Given the description of an element on the screen output the (x, y) to click on. 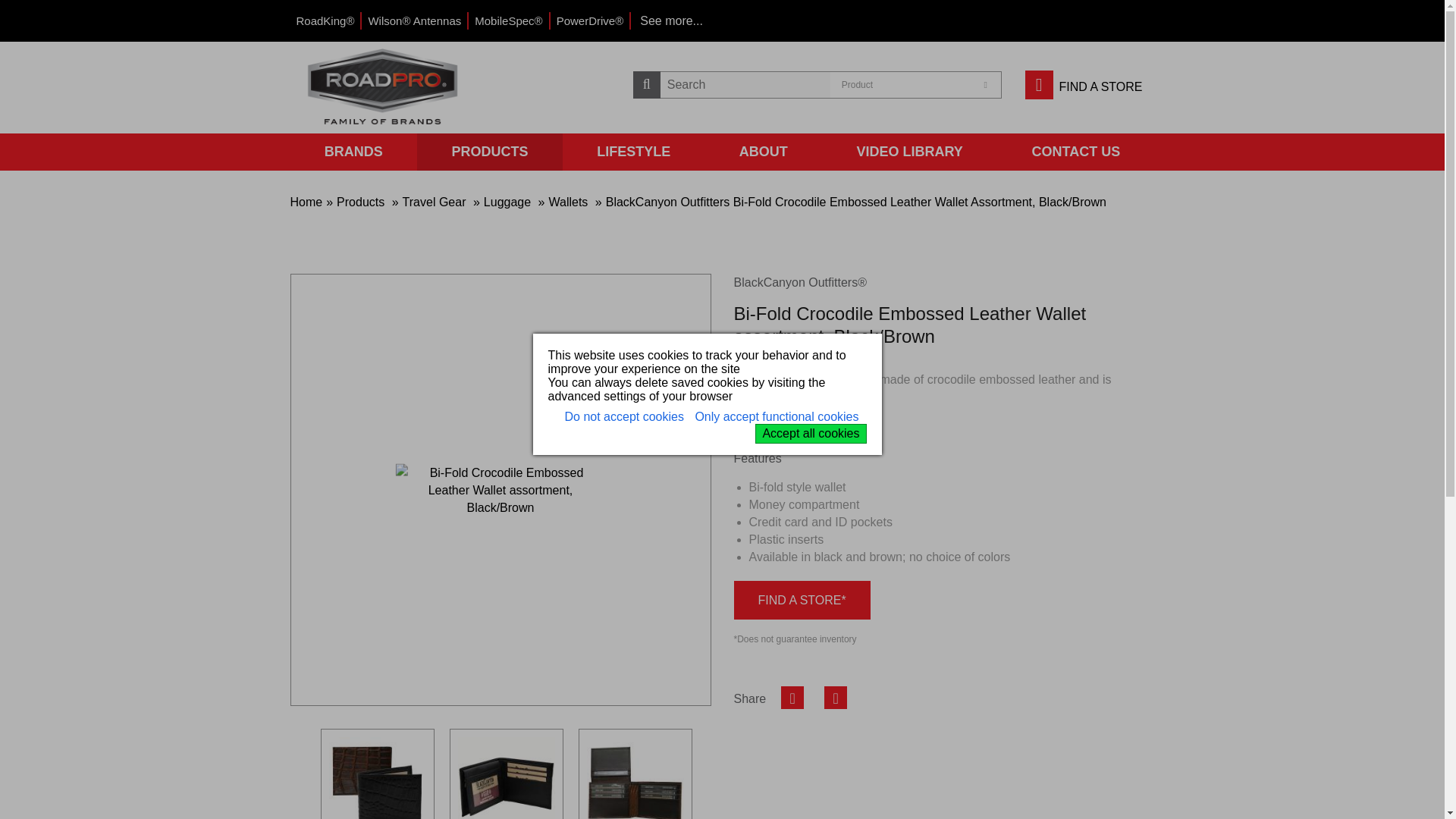
Facebook (791, 697)
Product (917, 84)
RoadPro Brands, a division of DAS Companies, Inc. (383, 86)
  FIND A STORE (1083, 86)
BRANDS (917, 84)
Twitter (352, 151)
